Given the description of an element on the screen output the (x, y) to click on. 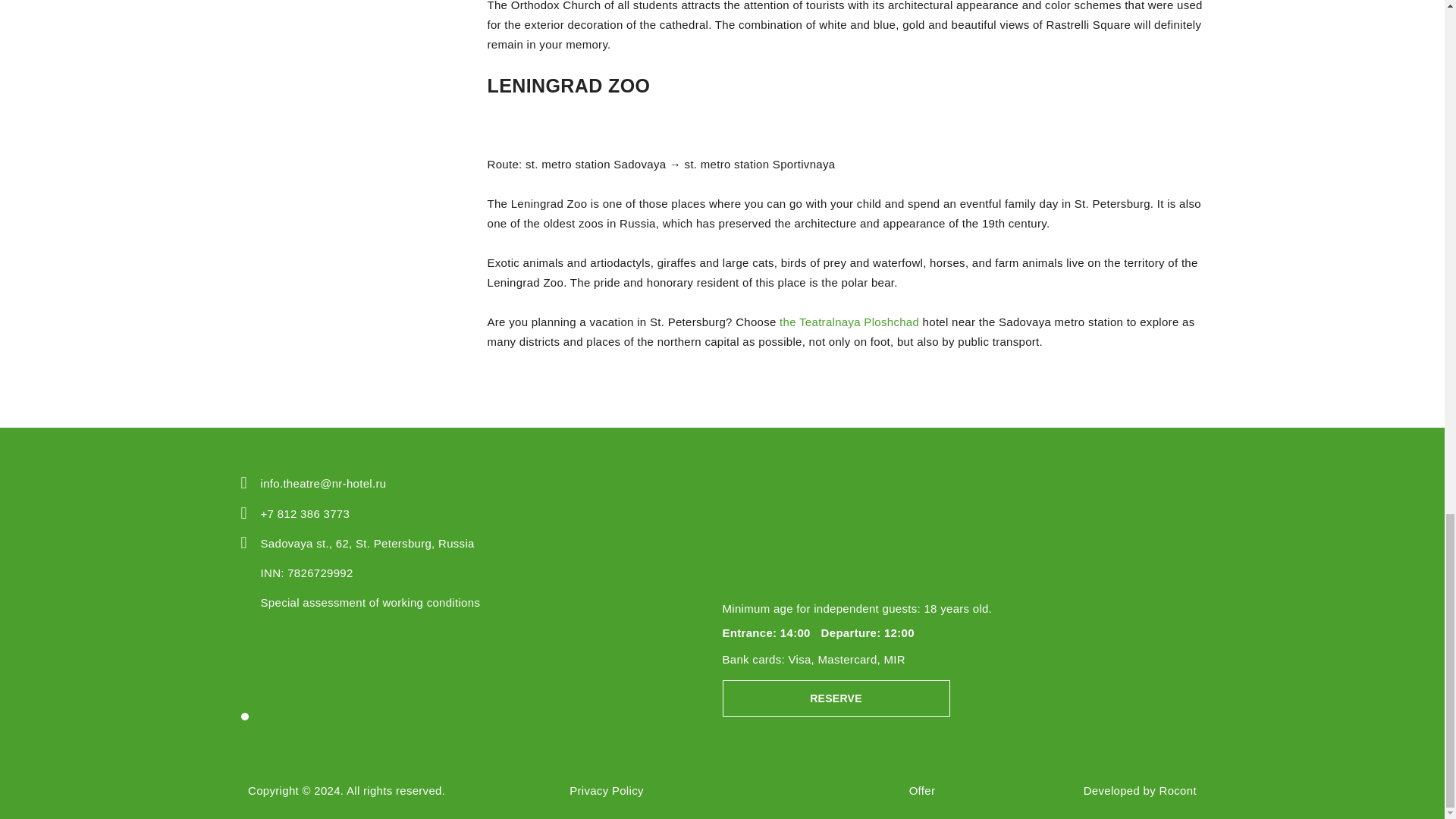
Special assessment of working conditions (370, 602)
the Teatralnaya Ploshchad (848, 321)
RESERVE (835, 698)
